Given the description of an element on the screen output the (x, y) to click on. 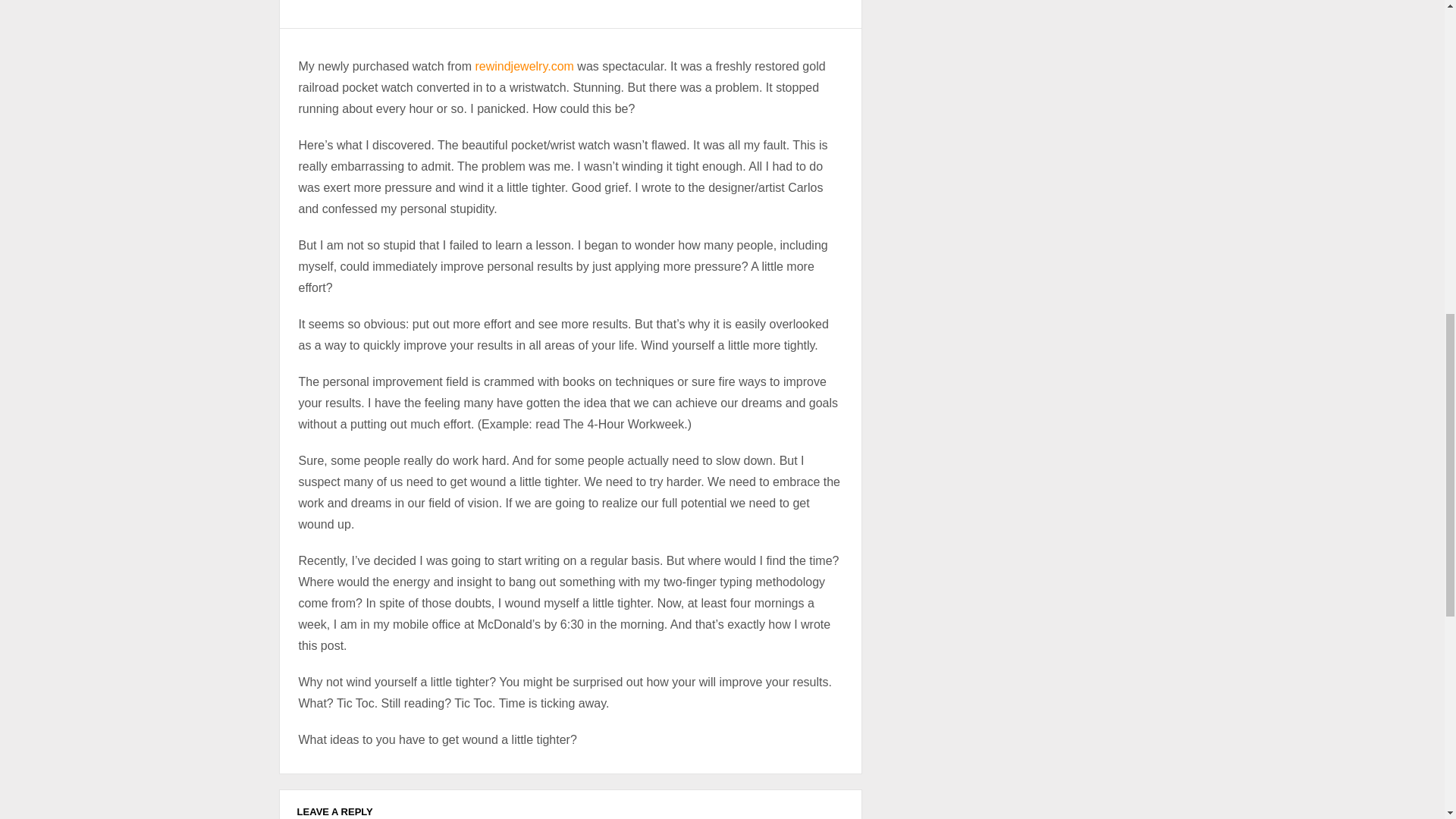
Rewind Jewelry (523, 65)
rewindjewelry.com (523, 65)
